Given the description of an element on the screen output the (x, y) to click on. 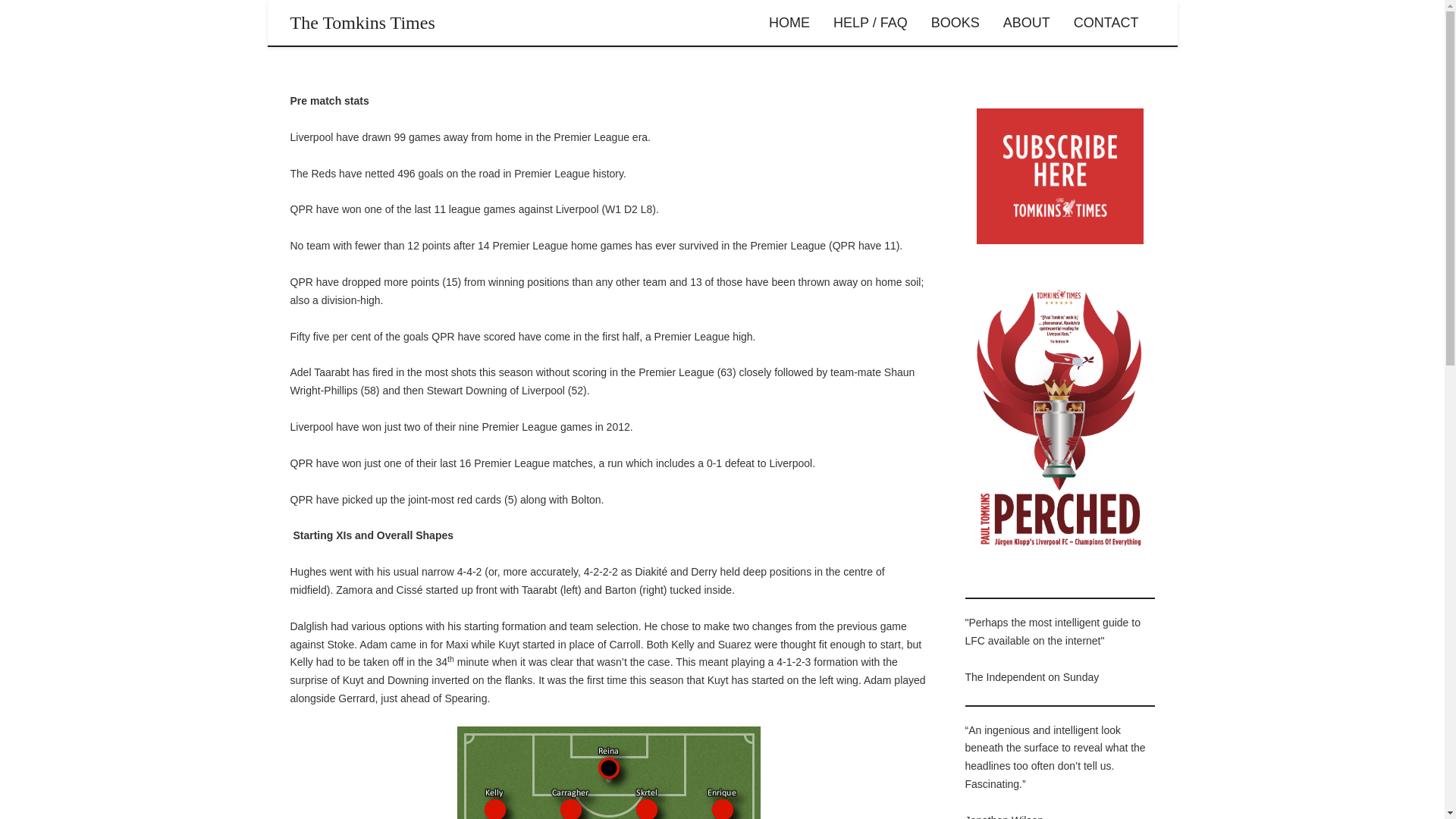
HOME (789, 22)
CONTACT (1106, 22)
BOOKS (955, 22)
ABOUT (1026, 22)
The Tomkins Times (361, 22)
